Given the description of an element on the screen output the (x, y) to click on. 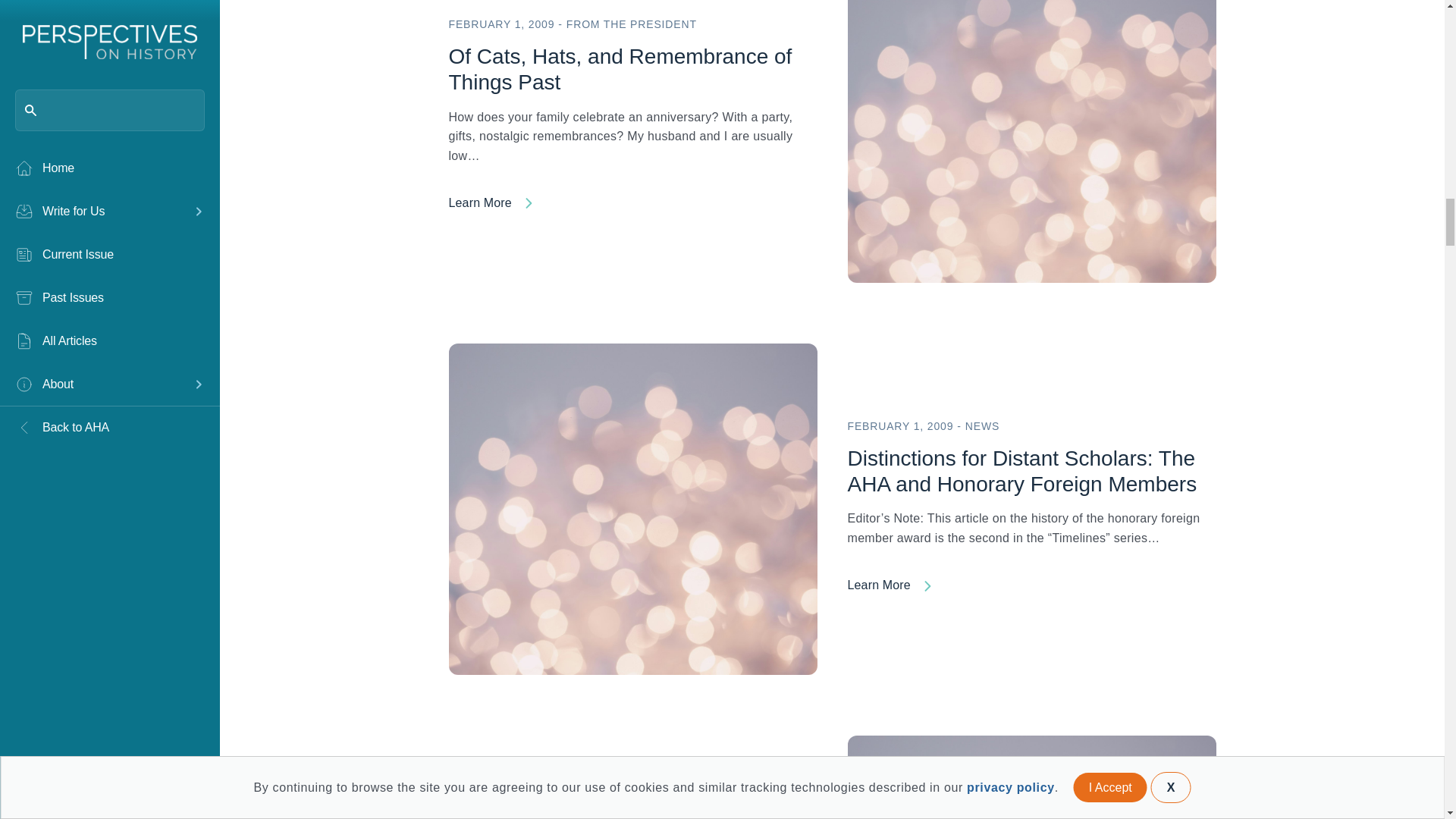
Of Cats, Hats, and Remembrance of Things Past (632, 206)
Of Cats, Hats, and Remembrance of Things Past (620, 69)
Of Cats, Hats, and Remembrance of Things Past (1031, 115)
